Given the description of an element on the screen output the (x, y) to click on. 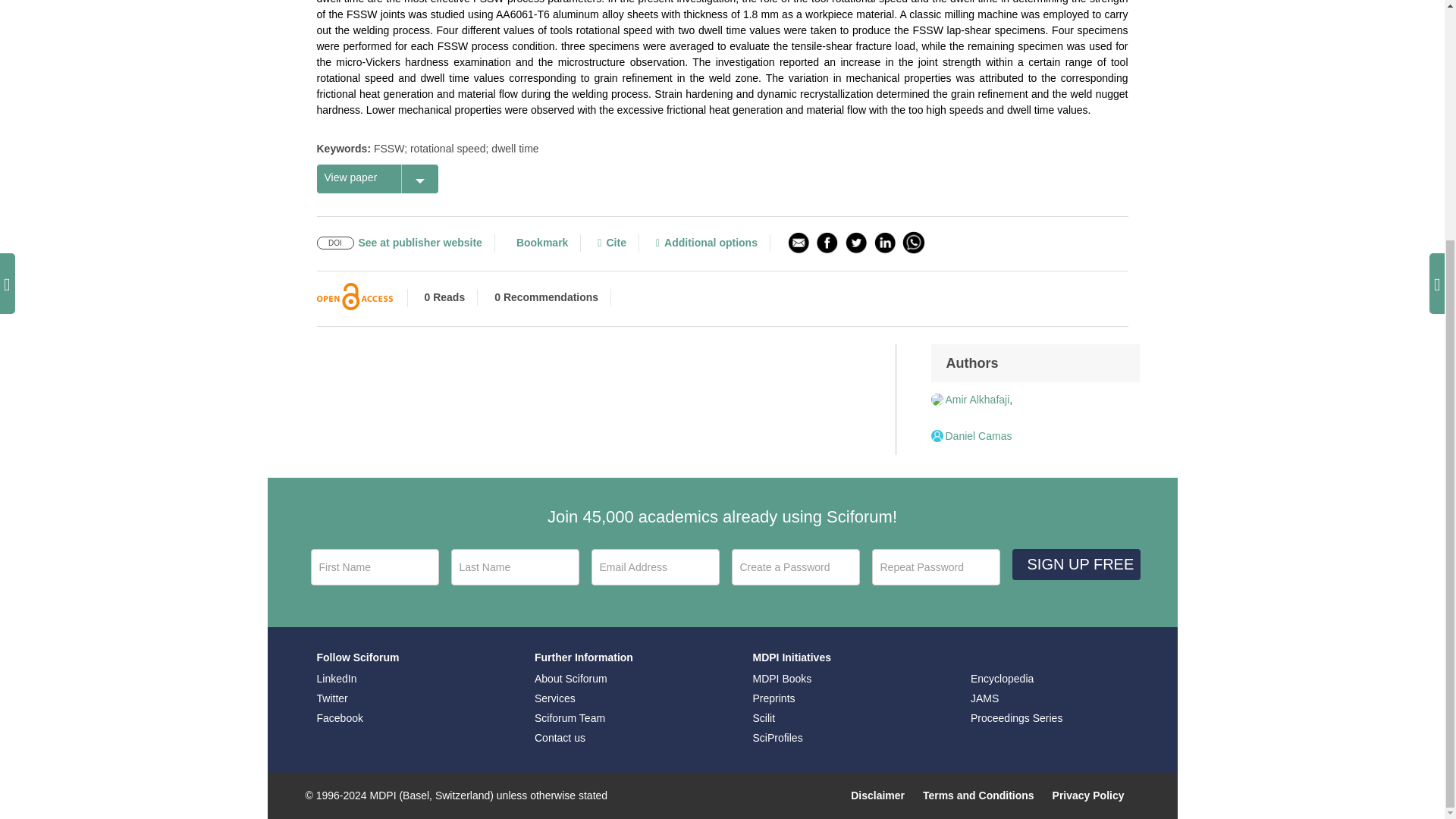
Sign Up Free (1075, 563)
Confirm password (936, 566)
Last name (513, 566)
First name (375, 566)
Email (655, 566)
